Given the description of an element on the screen output the (x, y) to click on. 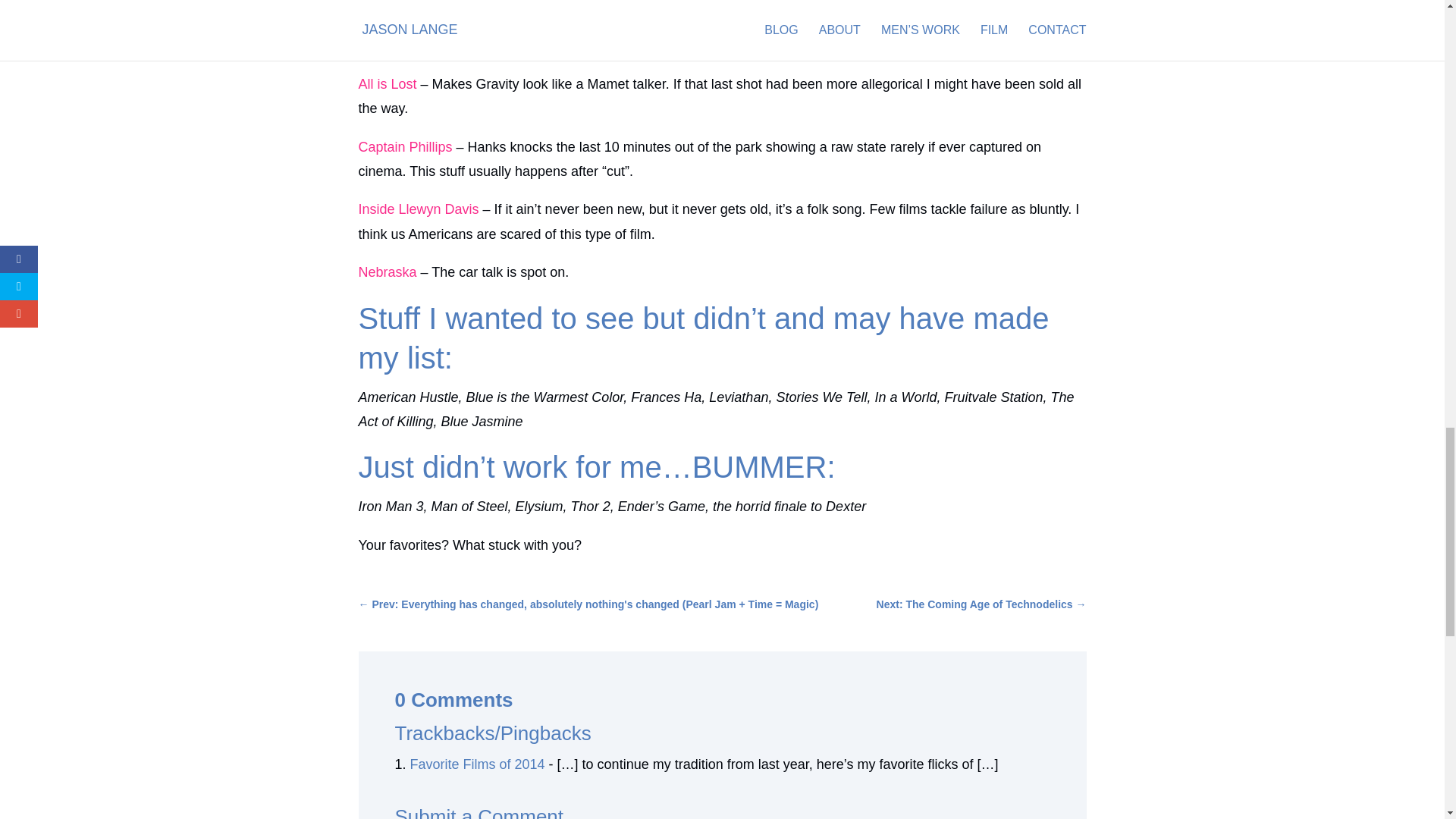
Inside Llewyn Davis (419, 209)
Favorite Films of 2014 (477, 764)
Captain Phillips (404, 146)
All is Lost (387, 83)
Grand Theft Auto V (416, 20)
Nebraska (387, 272)
